Given the description of an element on the screen output the (x, y) to click on. 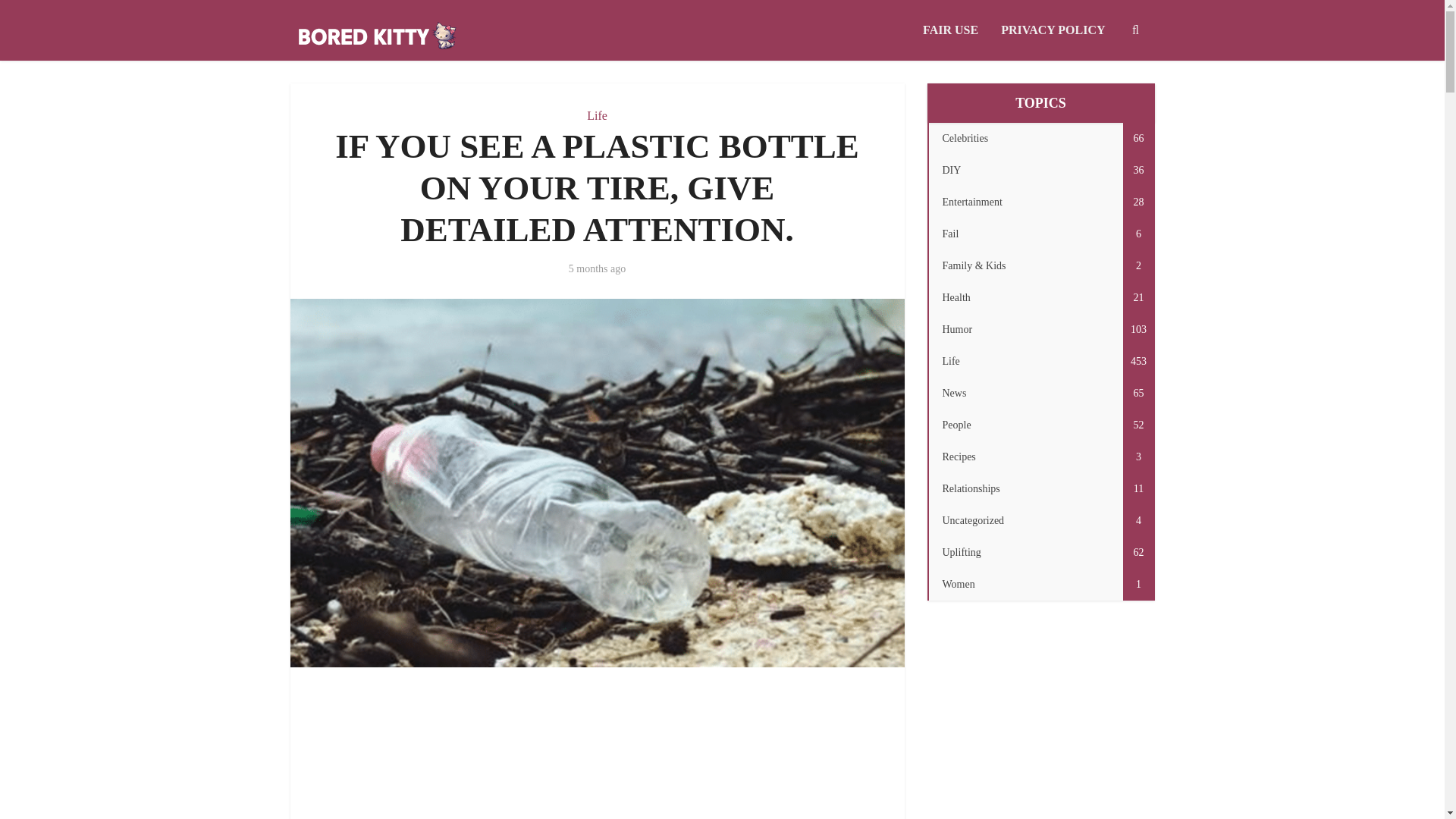
PRIVACY POLICY (1040, 297)
Advertisement (1053, 30)
Life (1040, 202)
FAIR USE (627, 754)
